Given the description of an element on the screen output the (x, y) to click on. 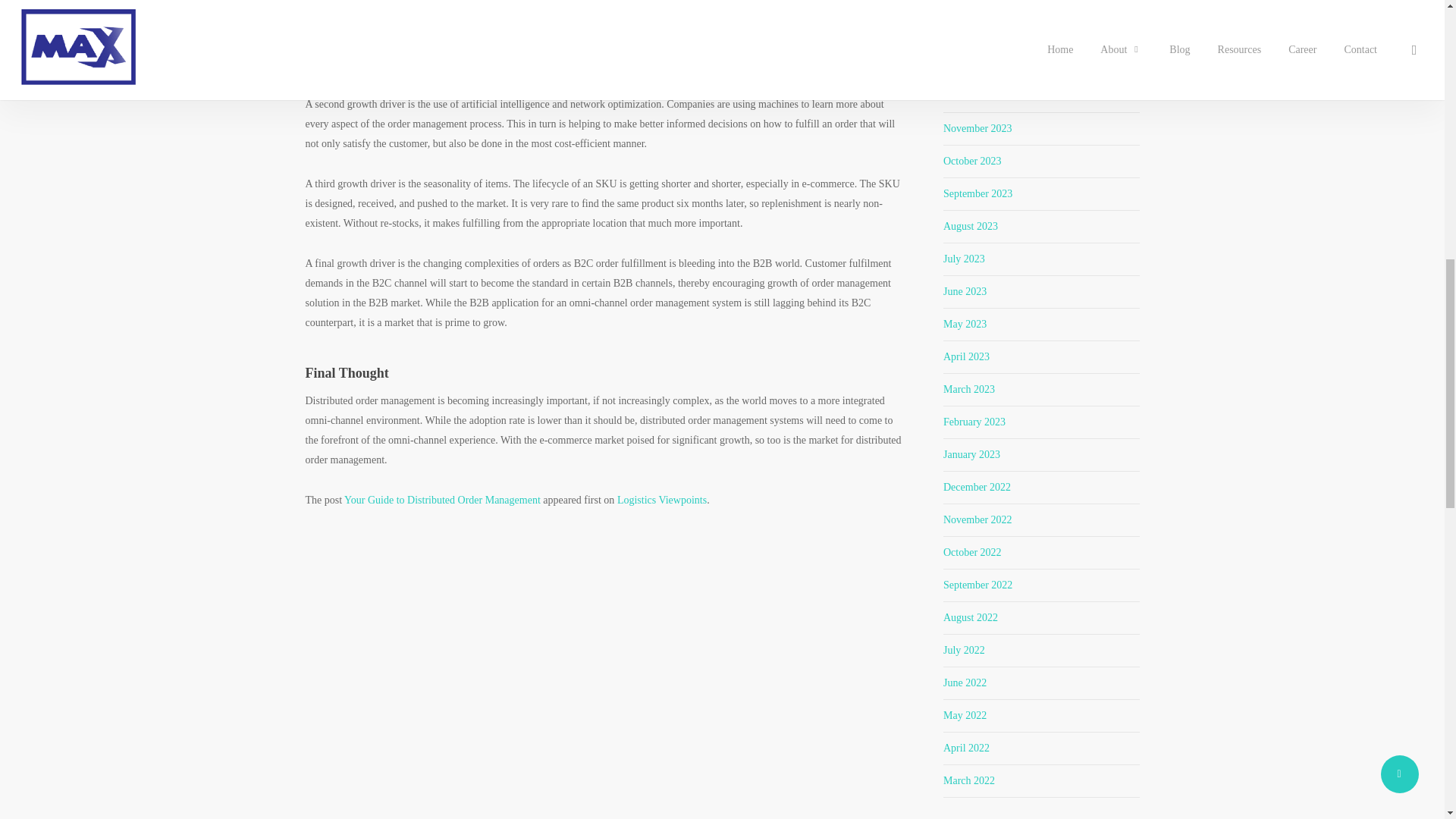
November 2023 (977, 128)
December 2023 (976, 95)
August 2023 (970, 225)
January 2023 (971, 454)
September 2023 (977, 193)
April 2023 (966, 356)
February 2023 (974, 421)
July 2023 (964, 258)
May 2023 (965, 324)
Logistics Viewpoints (661, 500)
October 2023 (972, 161)
Your Guide to Distributed Order Management (441, 500)
June 2023 (965, 291)
March 2024 (968, 2)
January 2024 (971, 62)
